Given the description of an element on the screen output the (x, y) to click on. 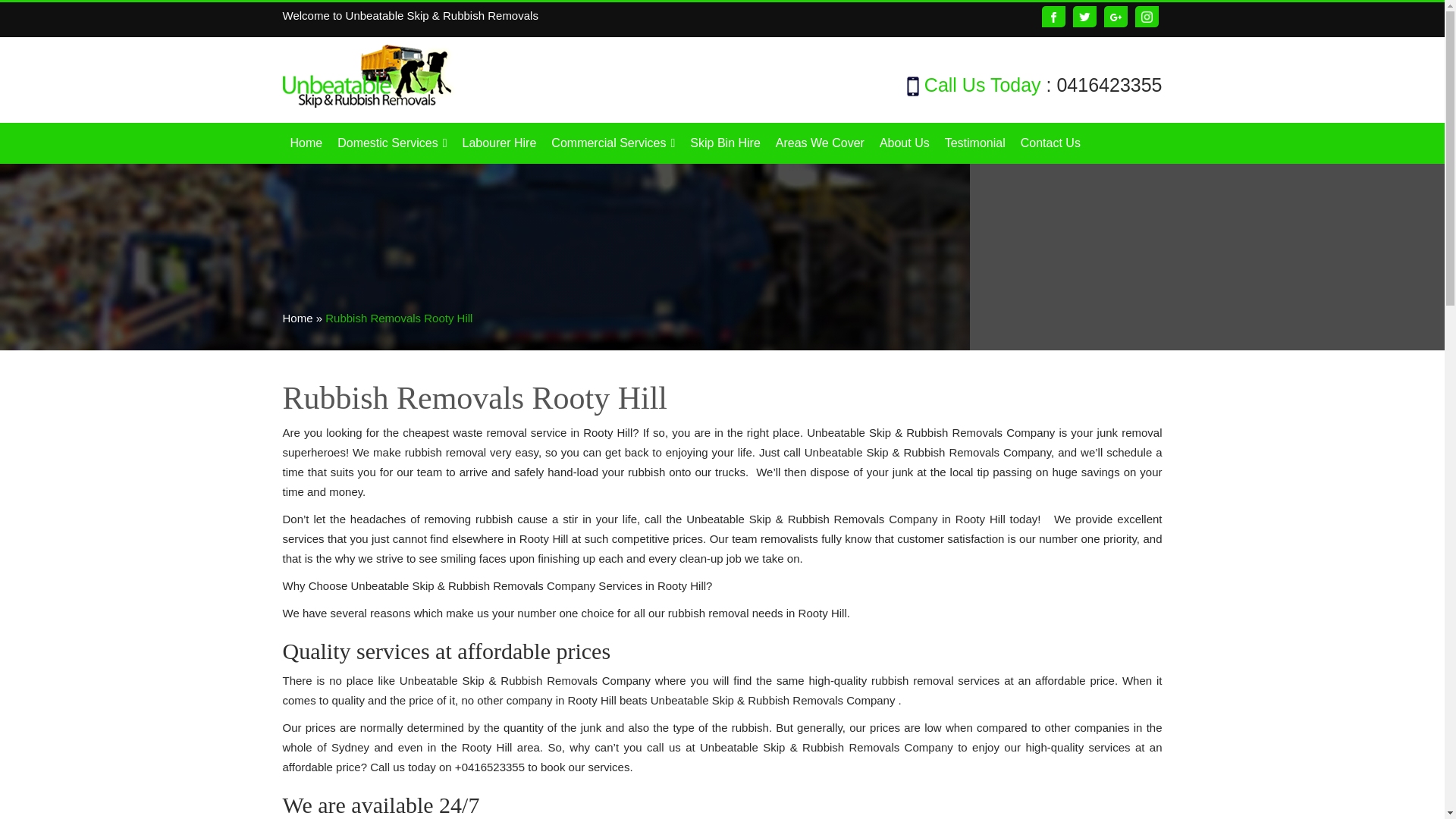
Home (306, 142)
Domestic Services (392, 142)
Commercial Services (612, 142)
0416423355 (1109, 84)
Labourer Hire (499, 142)
